Given the description of an element on the screen output the (x, y) to click on. 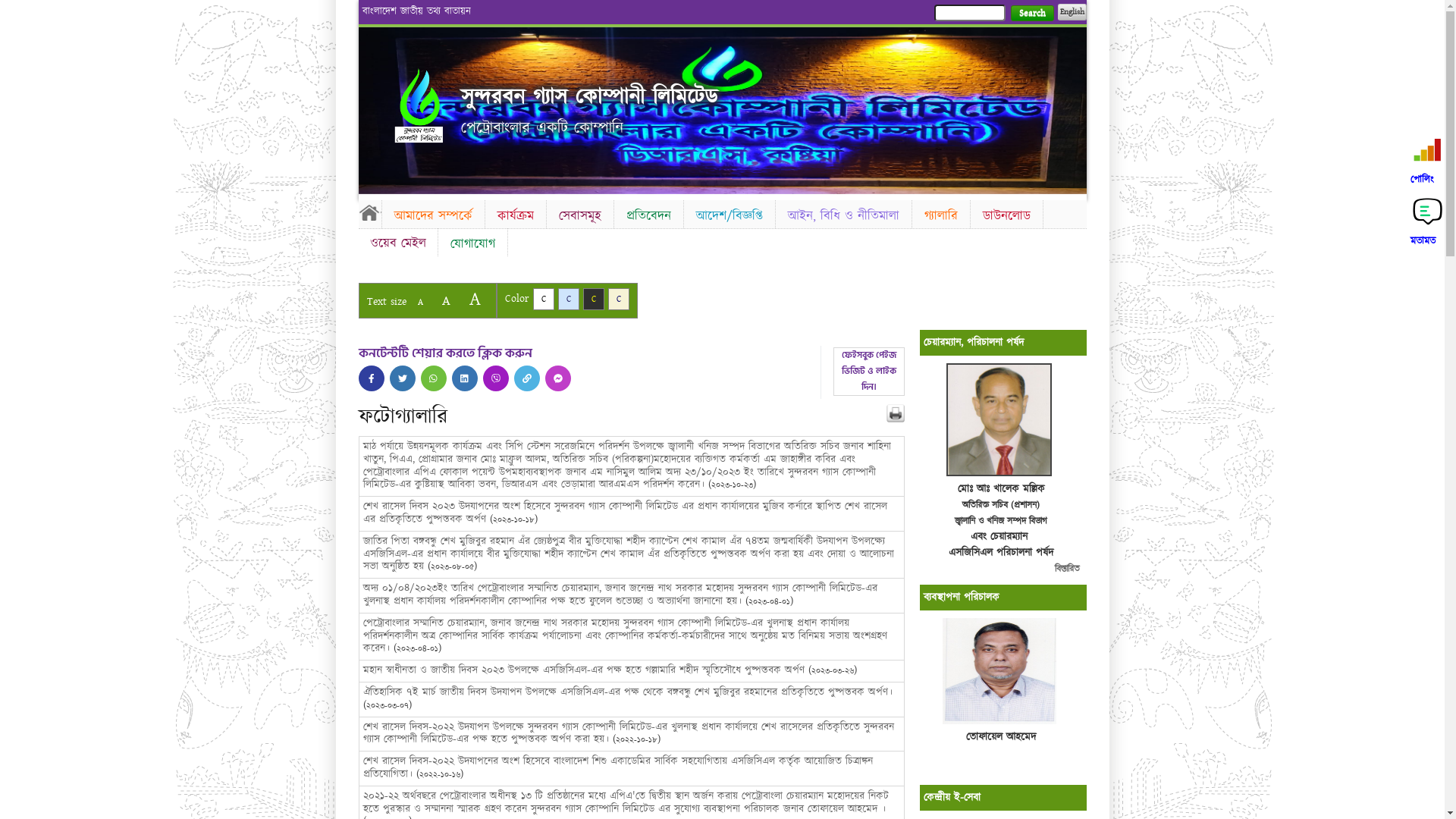
A Element type: text (474, 298)
Home Element type: hover (368, 211)
English Element type: text (1071, 11)
C Element type: text (542, 299)
Search Element type: text (1031, 13)
Home Element type: hover (418, 106)
A Element type: text (445, 300)
C Element type: text (618, 299)
C Element type: text (592, 299)
A Element type: text (419, 301)
C Element type: text (568, 299)
